Given the description of an element on the screen output the (x, y) to click on. 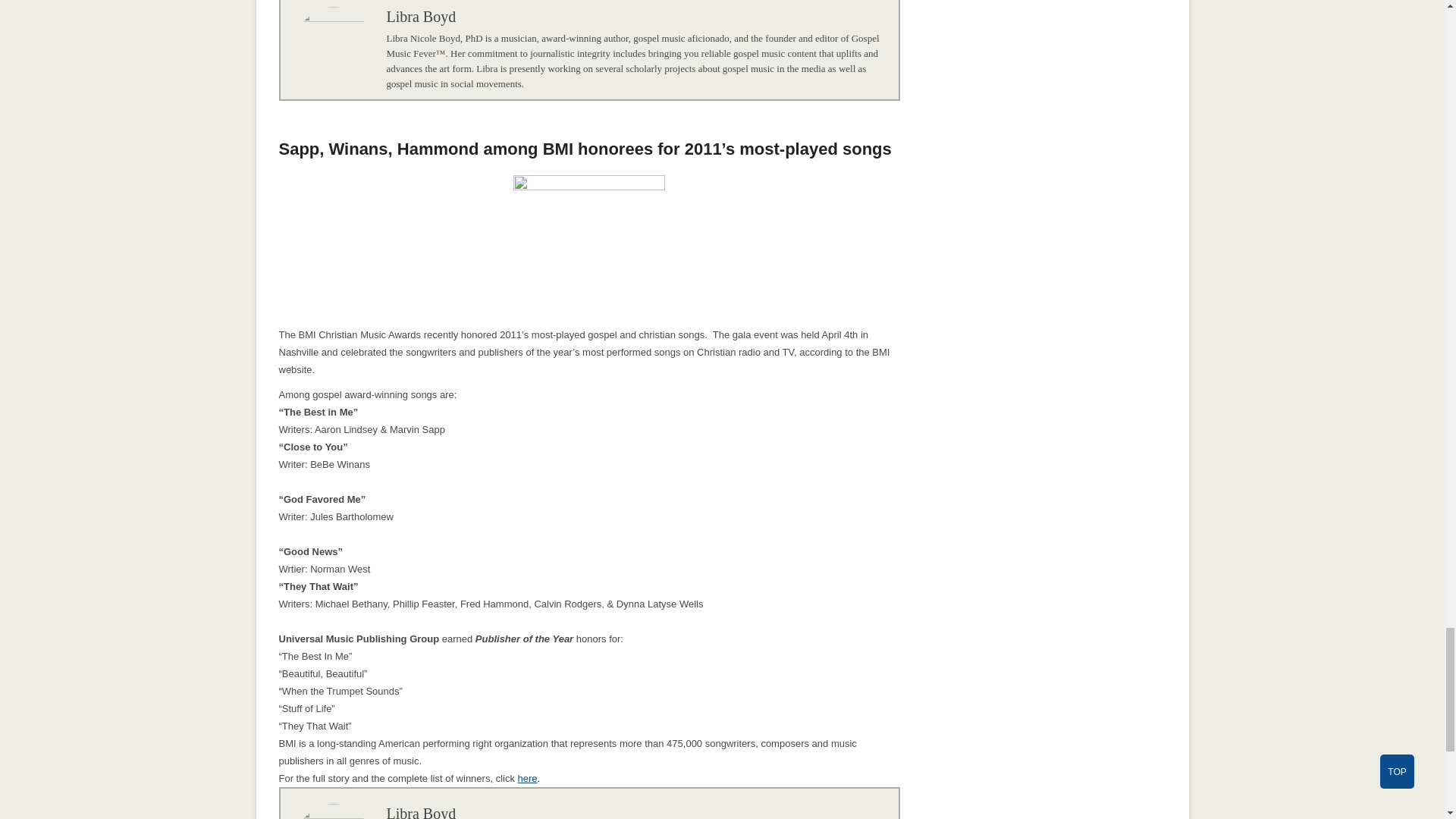
Libra Boyd (422, 16)
here (527, 778)
Libra Boyd (422, 812)
